Given the description of an element on the screen output the (x, y) to click on. 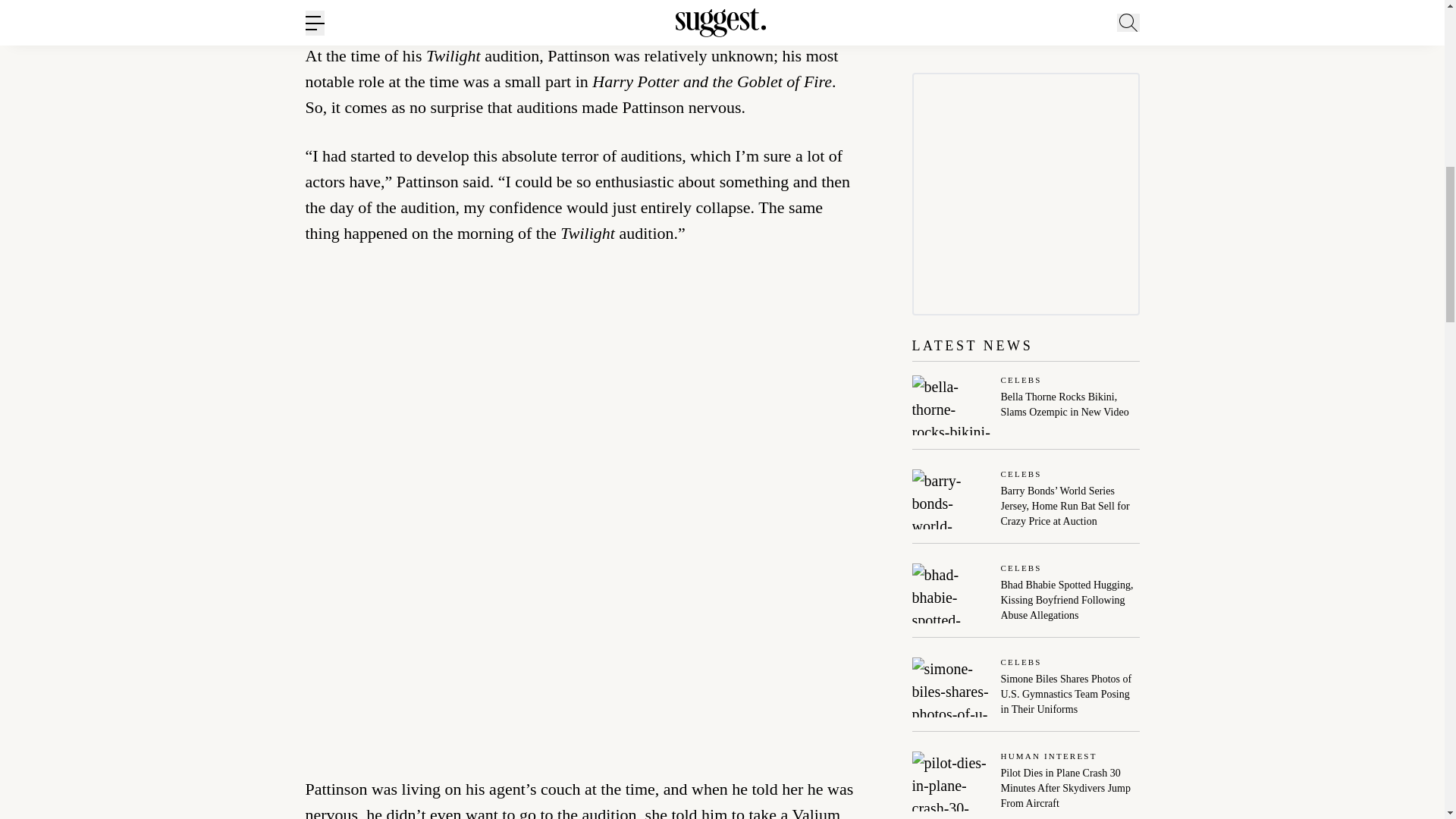
Bella Thorne Rocks Bikini, Slams Ozempic in New Video (1070, 404)
Celebs (1070, 380)
